Given the description of an element on the screen output the (x, y) to click on. 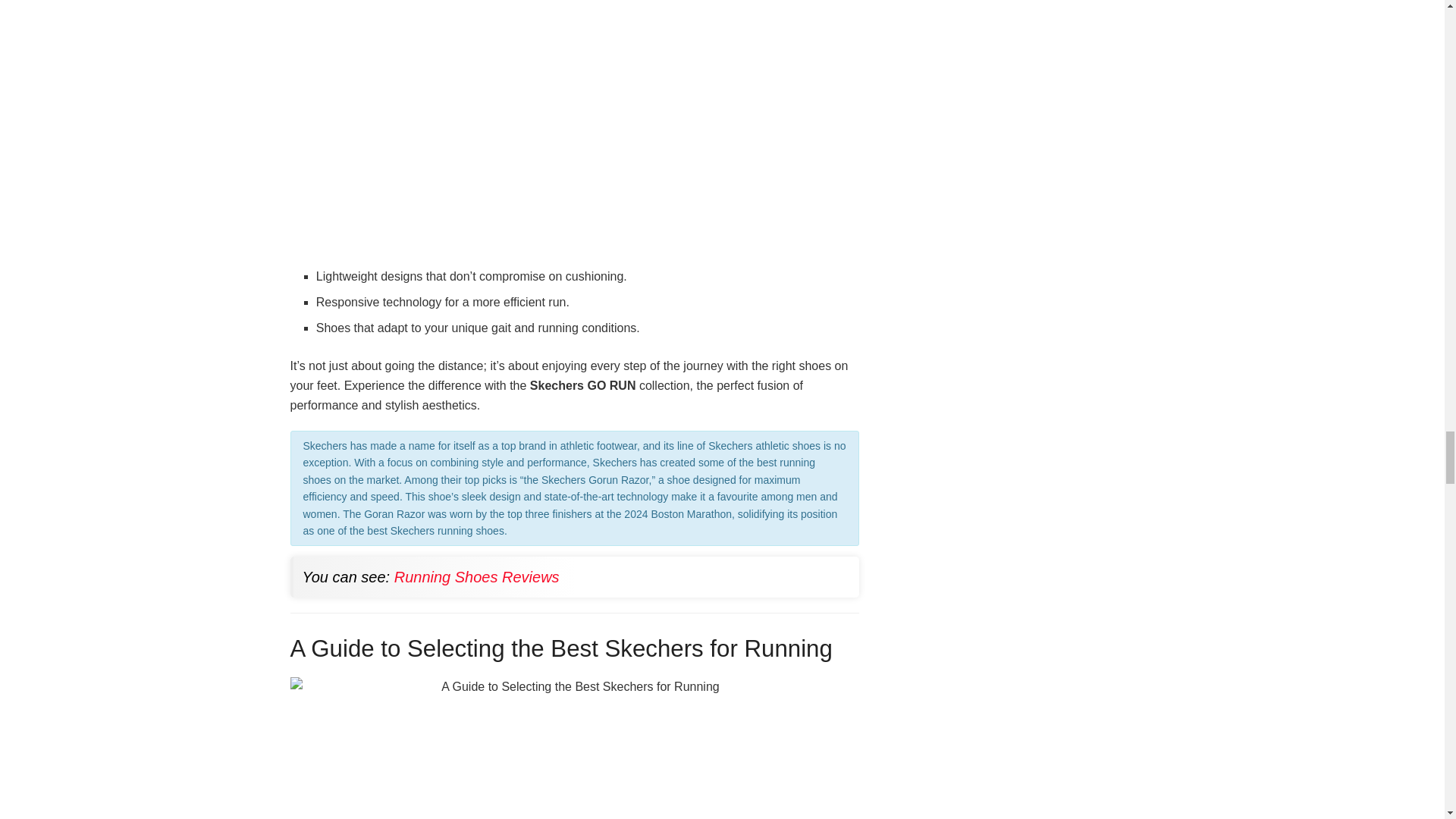
Running Shoes Skechers: Comfort Meets Performance 6 (574, 748)
